Given the description of an element on the screen output the (x, y) to click on. 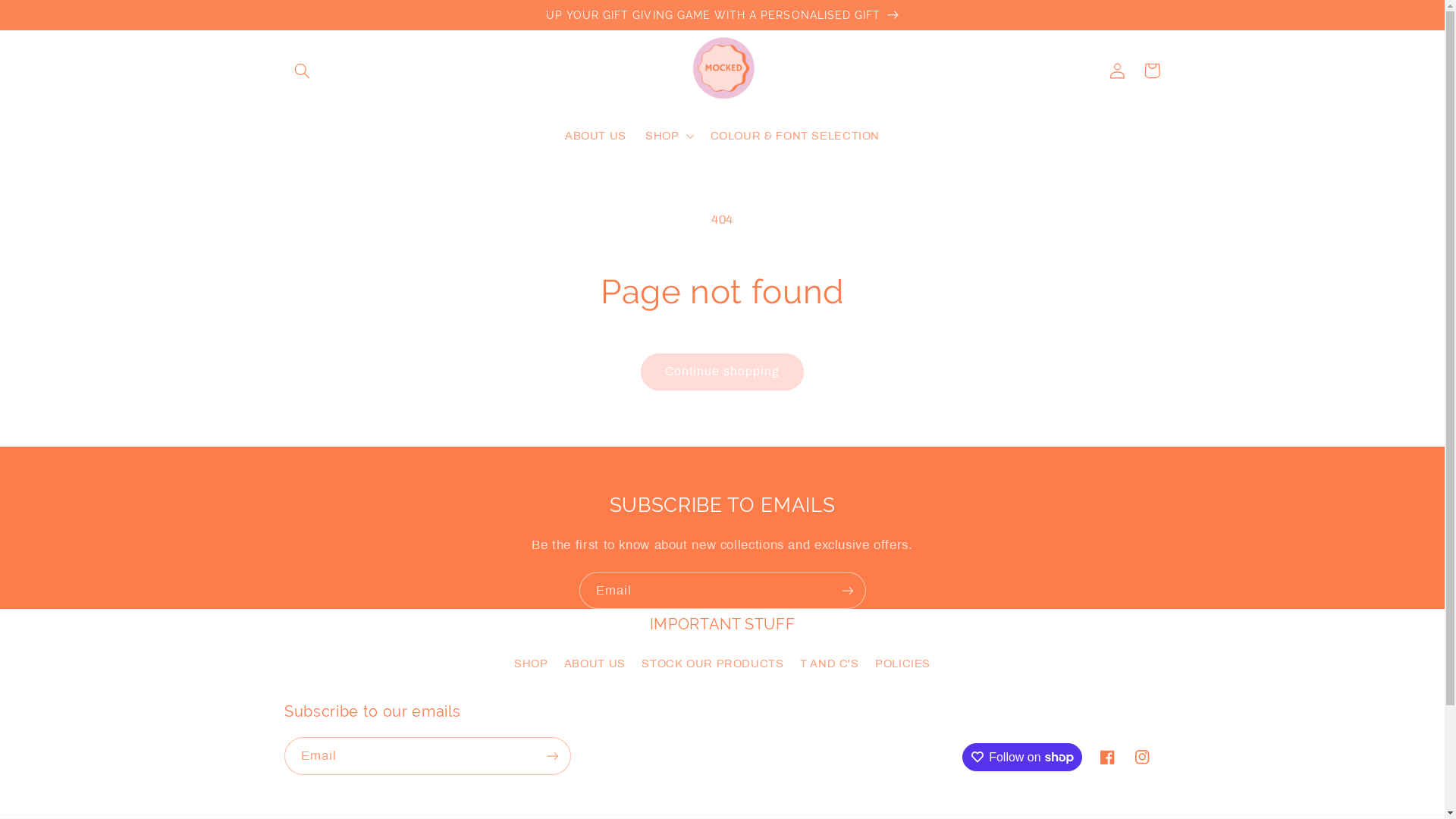
Continue shopping Element type: text (721, 371)
ABOUT US Element type: text (594, 663)
Log in Element type: text (1116, 70)
T AND C'S Element type: text (829, 663)
Facebook Element type: text (1107, 756)
ABOUT US Element type: text (595, 135)
Cart Element type: text (1151, 70)
Instagram Element type: text (1142, 756)
POLICIES Element type: text (902, 663)
UP YOUR GIFT GIVING GAME WITH A PERSONALISED GIFT Element type: text (722, 14)
SHOP Element type: text (531, 665)
COLOUR & FONT SELECTION Element type: text (794, 135)
STOCK OUR PRODUCTS Element type: text (712, 663)
